Given the description of an element on the screen output the (x, y) to click on. 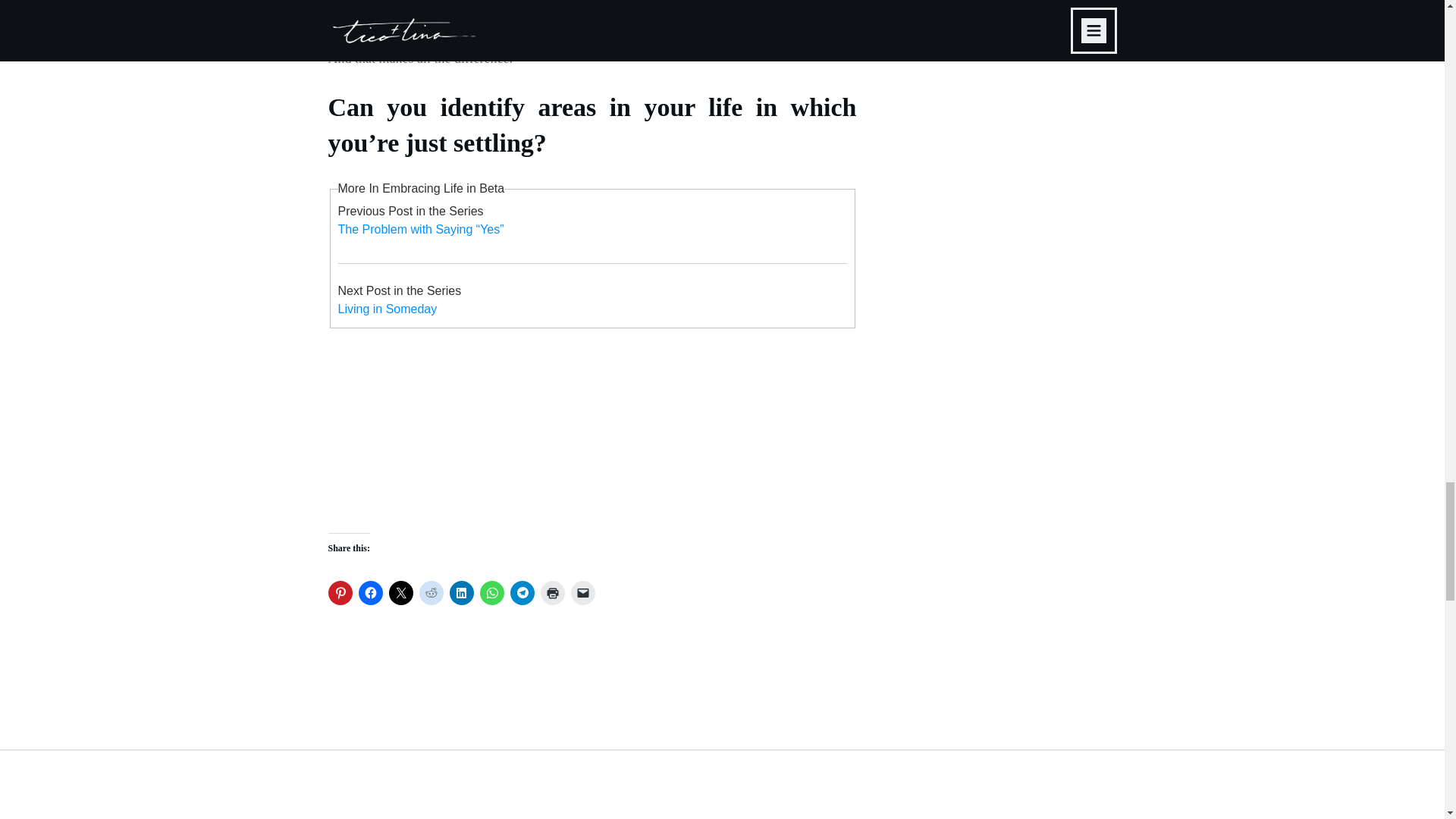
Living in Someday (387, 308)
